Given the description of an element on the screen output the (x, y) to click on. 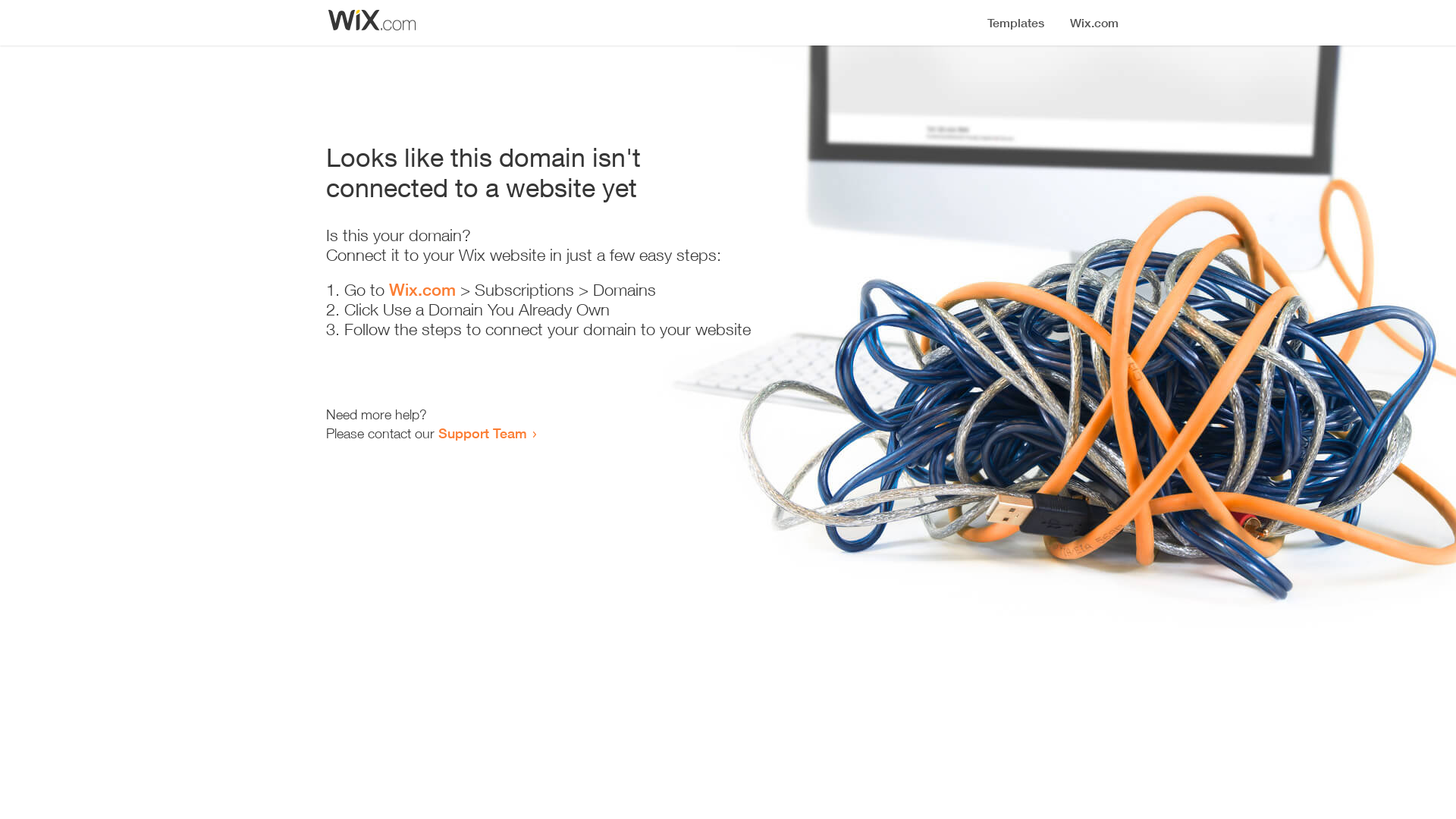
Wix.com Element type: text (422, 289)
Support Team Element type: text (482, 432)
